Given the description of an element on the screen output the (x, y) to click on. 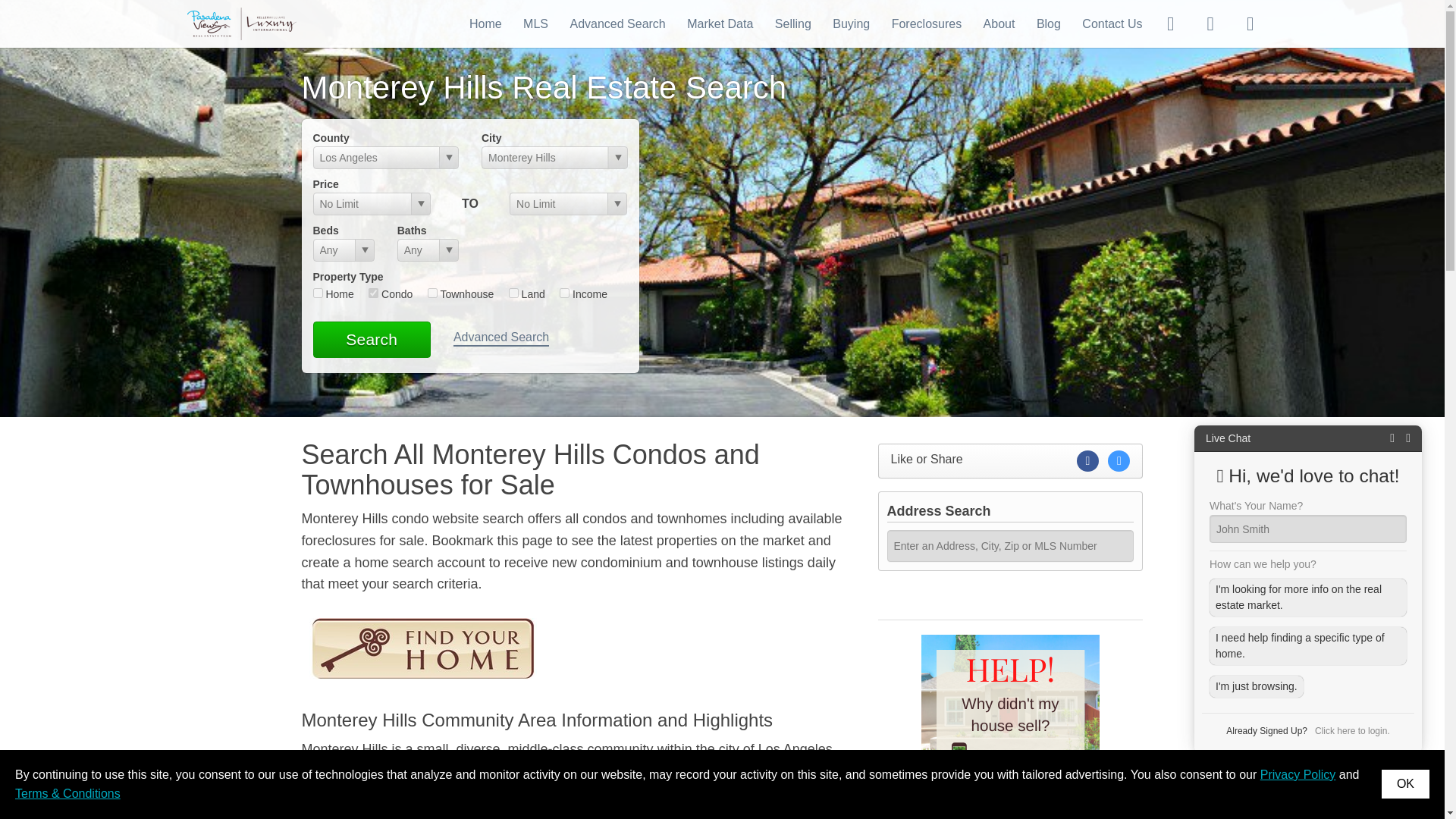
Reasons House Did Not Sell (1010, 708)
con (373, 293)
Blog (1048, 23)
Market Data (719, 23)
Help me sell my Pasadena home! (1009, 602)
Selling (792, 23)
South Pasadena City Guide and Relocation Information (546, 813)
Search (371, 339)
lnd (513, 293)
Pasadena real estate and home sales (242, 23)
res (317, 293)
Home (485, 23)
twn (433, 293)
mul (564, 293)
Advanced Search (500, 338)
